Given the description of an element on the screen output the (x, y) to click on. 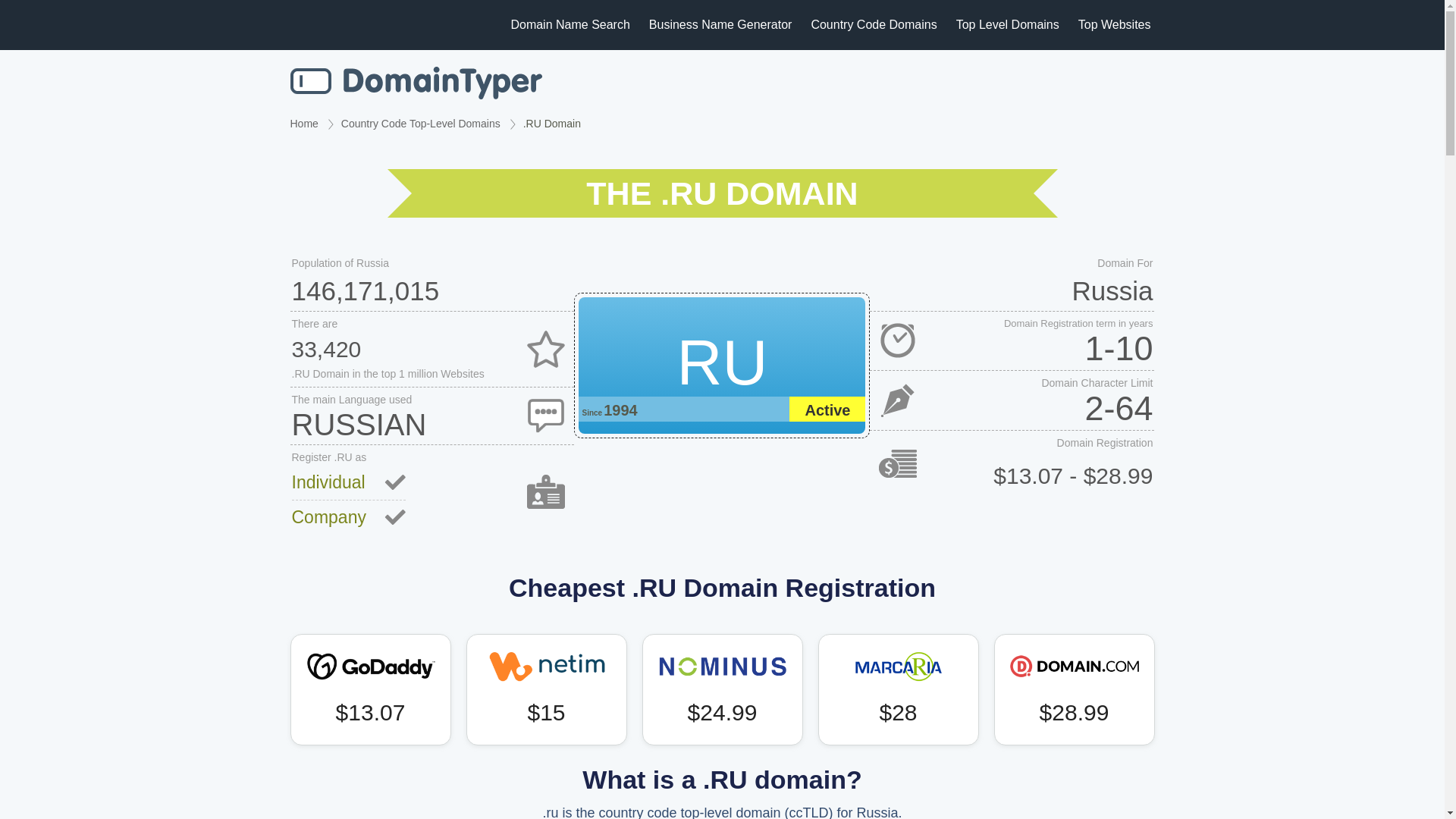
Domain Name Search (569, 24)
Country Code Top-Level Domains (420, 123)
Business Name Generator (720, 24)
Domain Name Search (415, 82)
Top Level Domains (1008, 24)
Top Websites (1114, 24)
Home (303, 123)
Country Code Domains (873, 24)
